Given the description of an element on the screen output the (x, y) to click on. 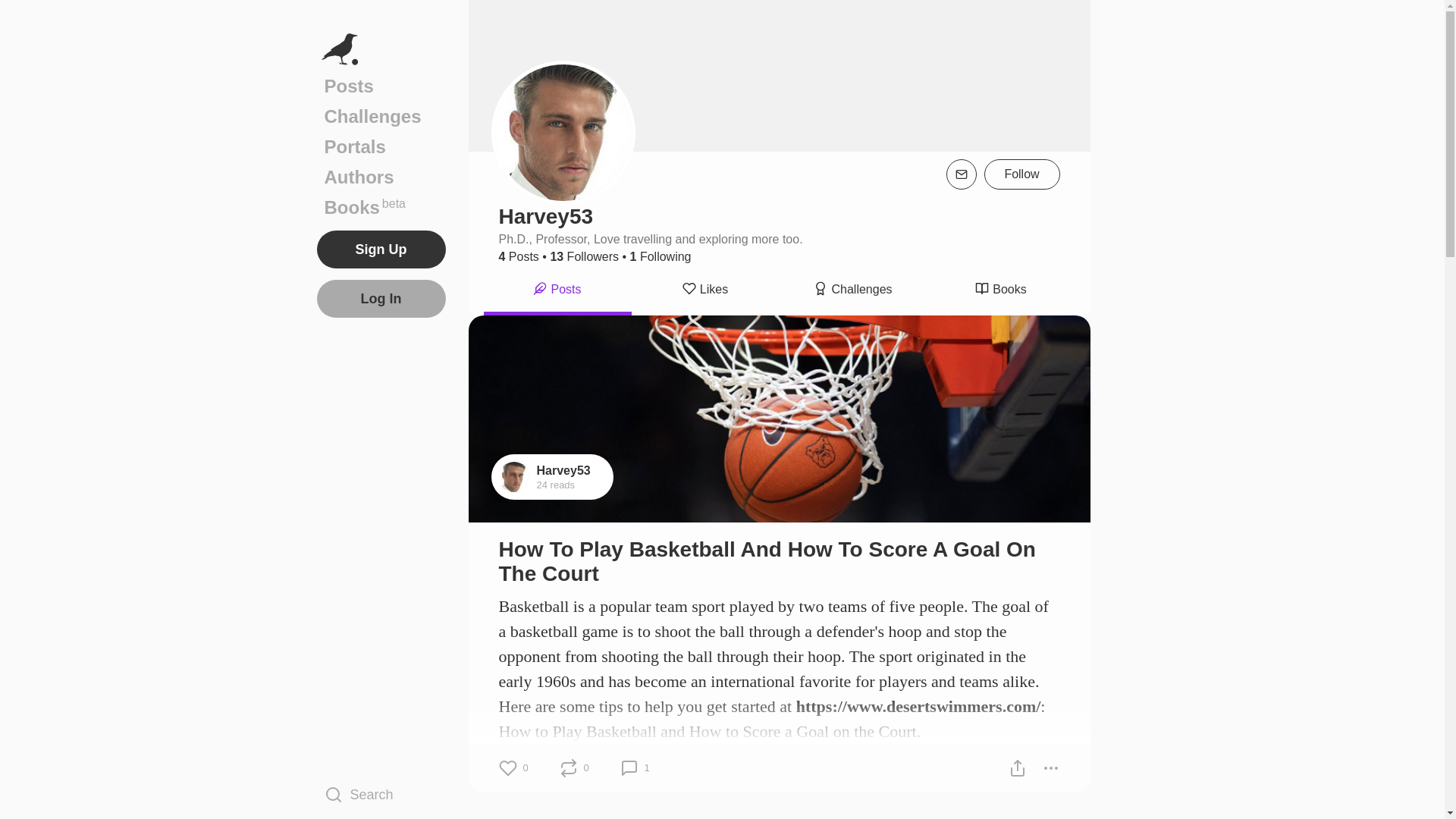
Challenges (381, 116)
Search (381, 794)
Posts (381, 86)
Harvey53 (564, 470)
Challenges (852, 291)
13 Followers (584, 256)
Books (1000, 291)
Authors (381, 177)
Likes (704, 291)
Portals (381, 146)
1 Following (660, 256)
4 Posts (381, 207)
Posts (518, 256)
